Given the description of an element on the screen output the (x, y) to click on. 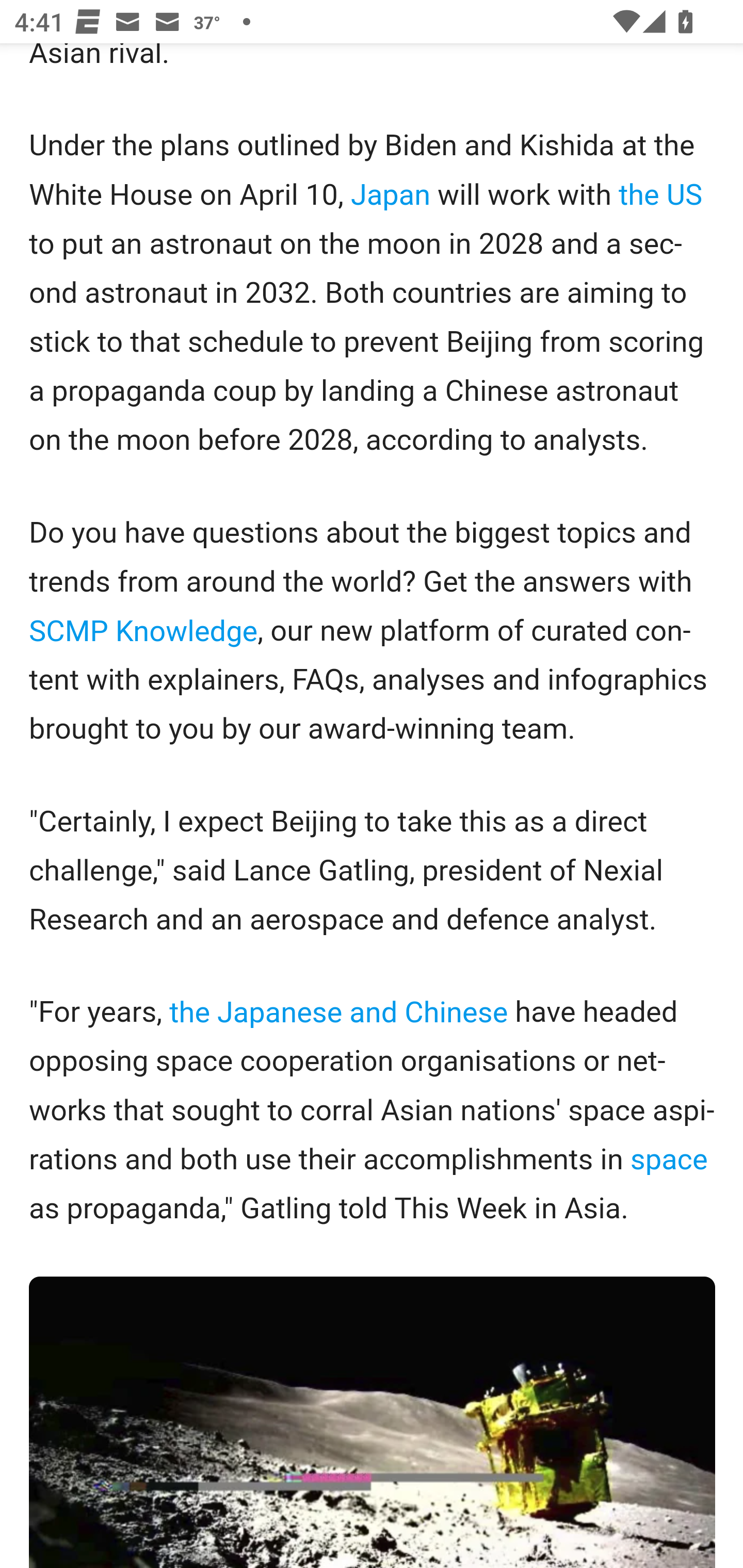
Japan (390, 196)
the US (660, 196)
SCMP Knowledge (142, 631)
the Japanese and Chinese (337, 1012)
space (668, 1159)
